Given the description of an element on the screen output the (x, y) to click on. 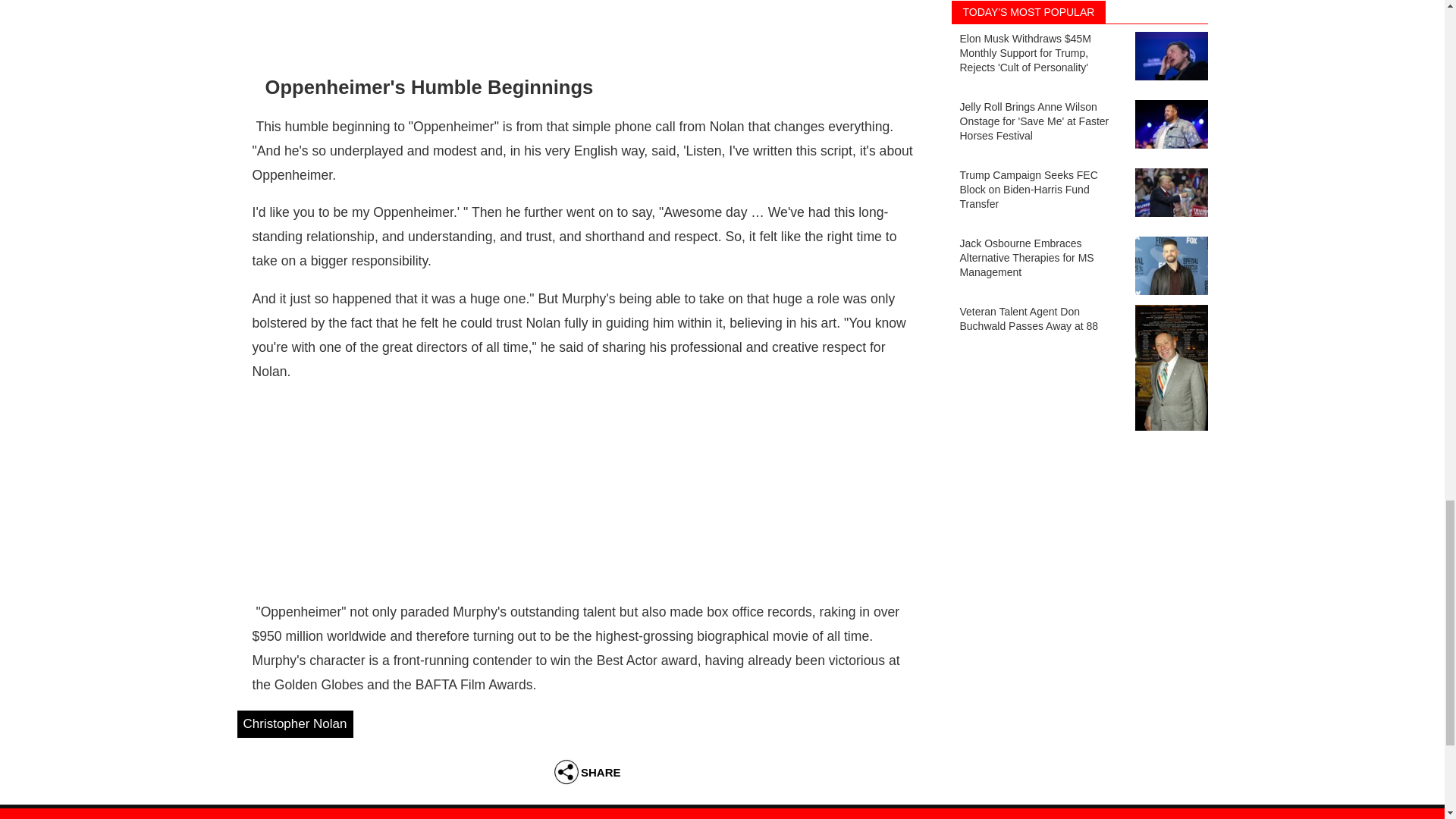
Christopher Nolan (293, 723)
